Given the description of an element on the screen output the (x, y) to click on. 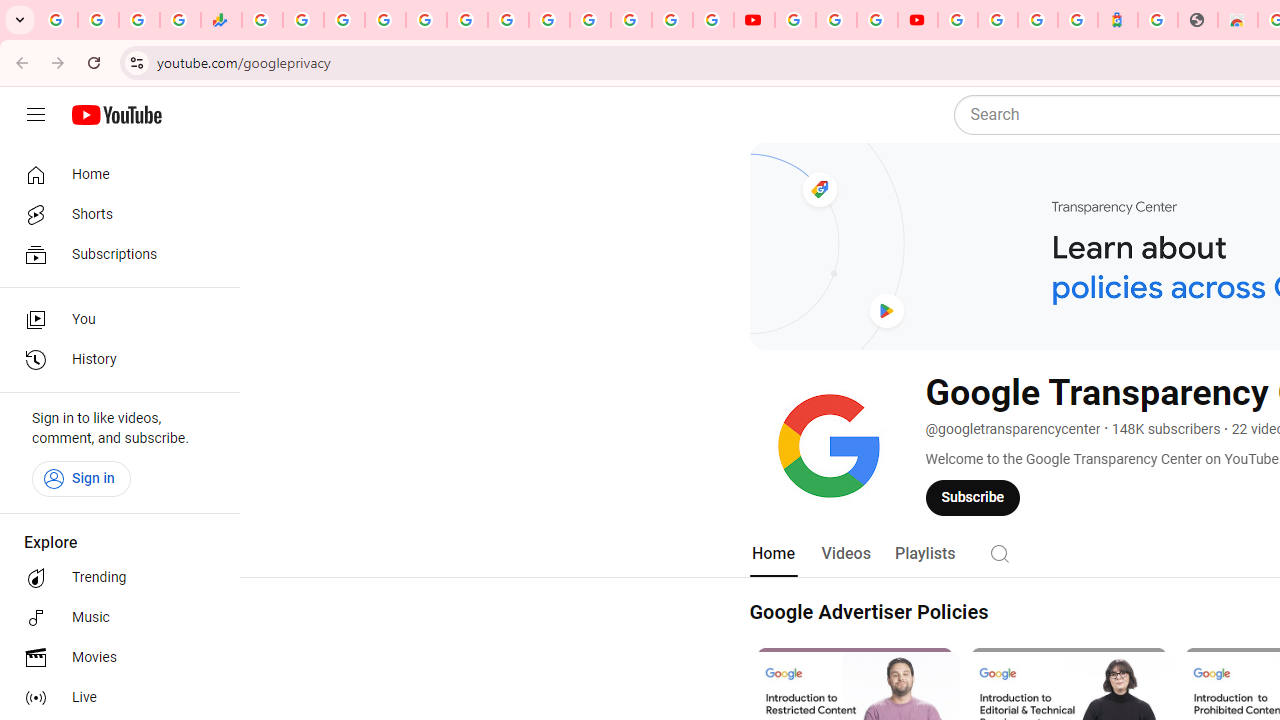
View site information (136, 62)
Content Creator Programs & Opportunities - YouTube Creators (918, 20)
Subscribe (973, 497)
Playlists (924, 553)
Sign in - Google Accounts (589, 20)
Sign in - Google Accounts (957, 20)
Google Workspace Admin Community (57, 20)
Search (999, 552)
Trending (113, 578)
Movies (113, 657)
